Given the description of an element on the screen output the (x, y) to click on. 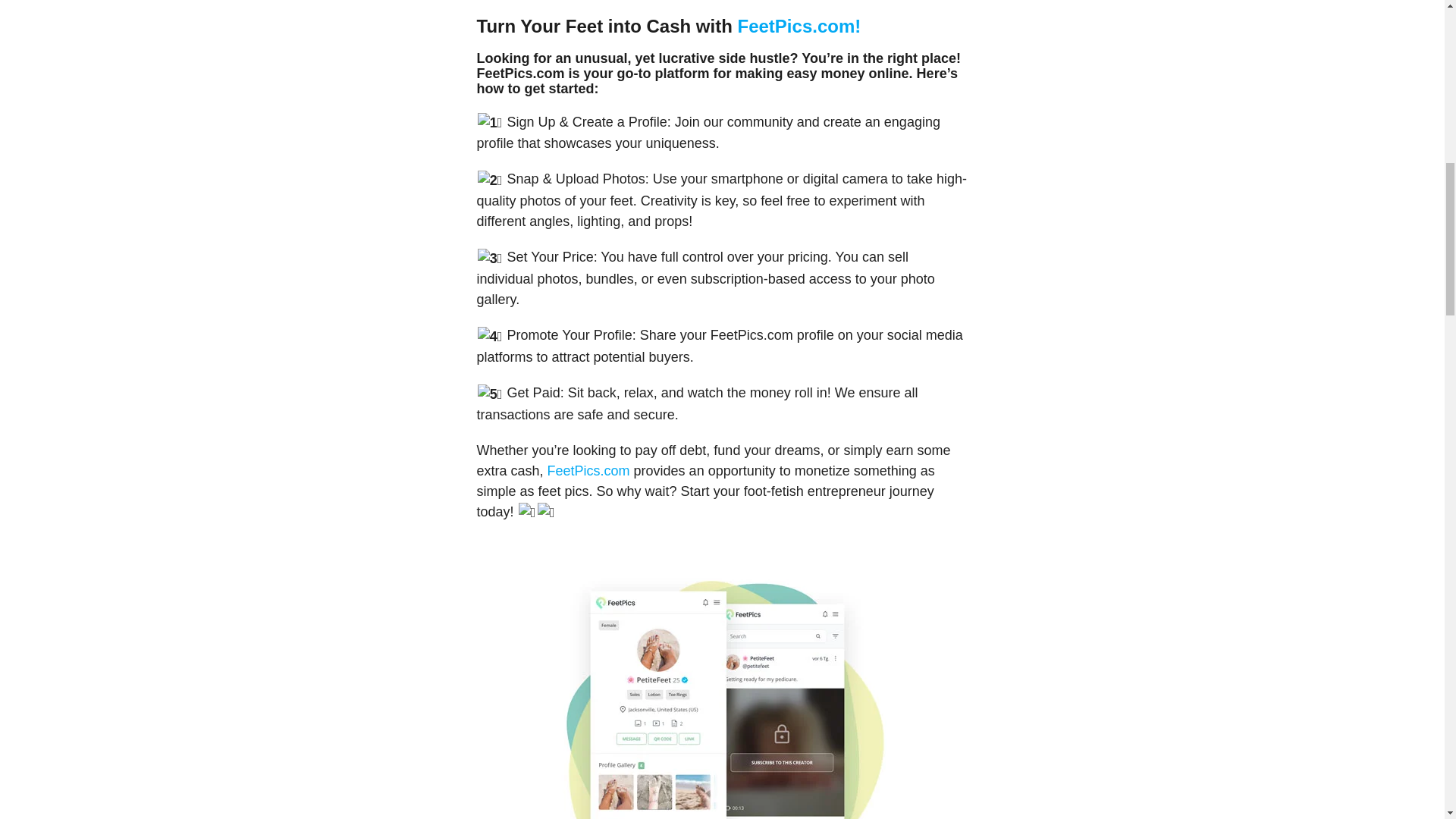
FeetPics.com (797, 25)
FeetPics.com (590, 470)
